Given the description of an element on the screen output the (x, y) to click on. 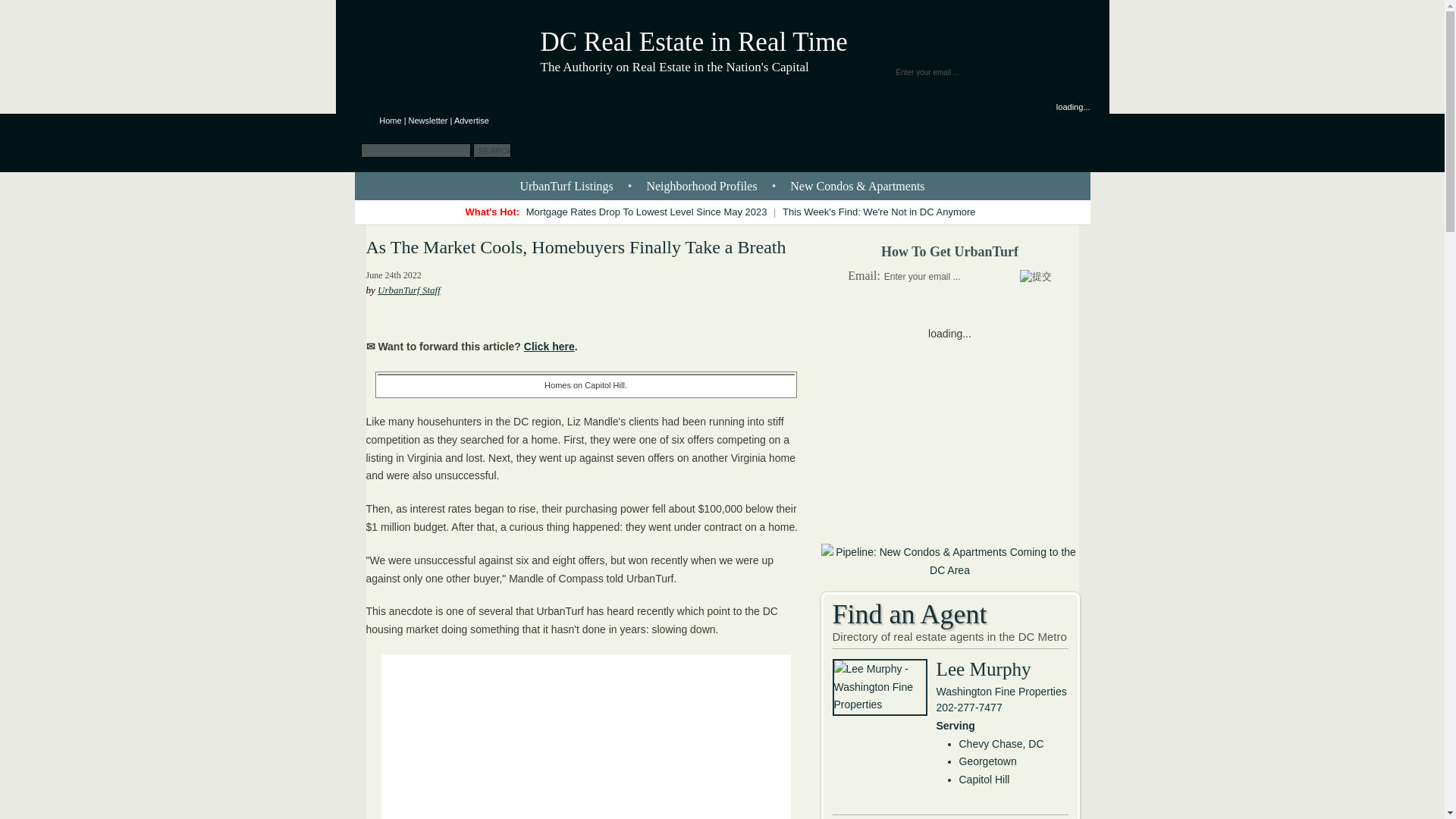
Advertise (471, 120)
UrbanTurf Staff (409, 289)
UrbanTurf Pipeline (949, 570)
Search (492, 150)
Enter your email ... (960, 70)
Neighborhood Profiles (701, 185)
This Week's Find: We're Not in DC Anymore (878, 211)
Click here (549, 346)
Advertise on UrbanTurf (471, 120)
Search (492, 150)
